Given the description of an element on the screen output the (x, y) to click on. 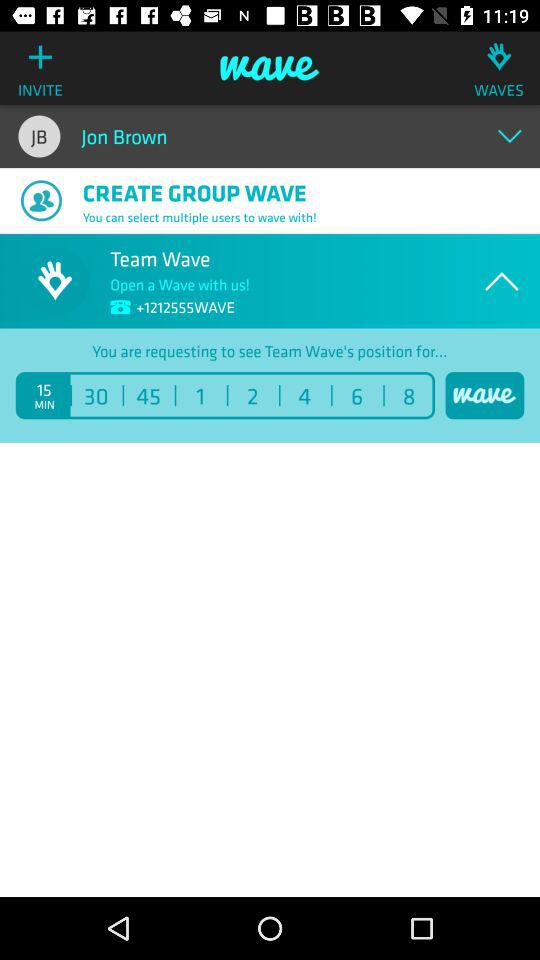
tap icon next to the waves (269, 68)
